Given the description of an element on the screen output the (x, y) to click on. 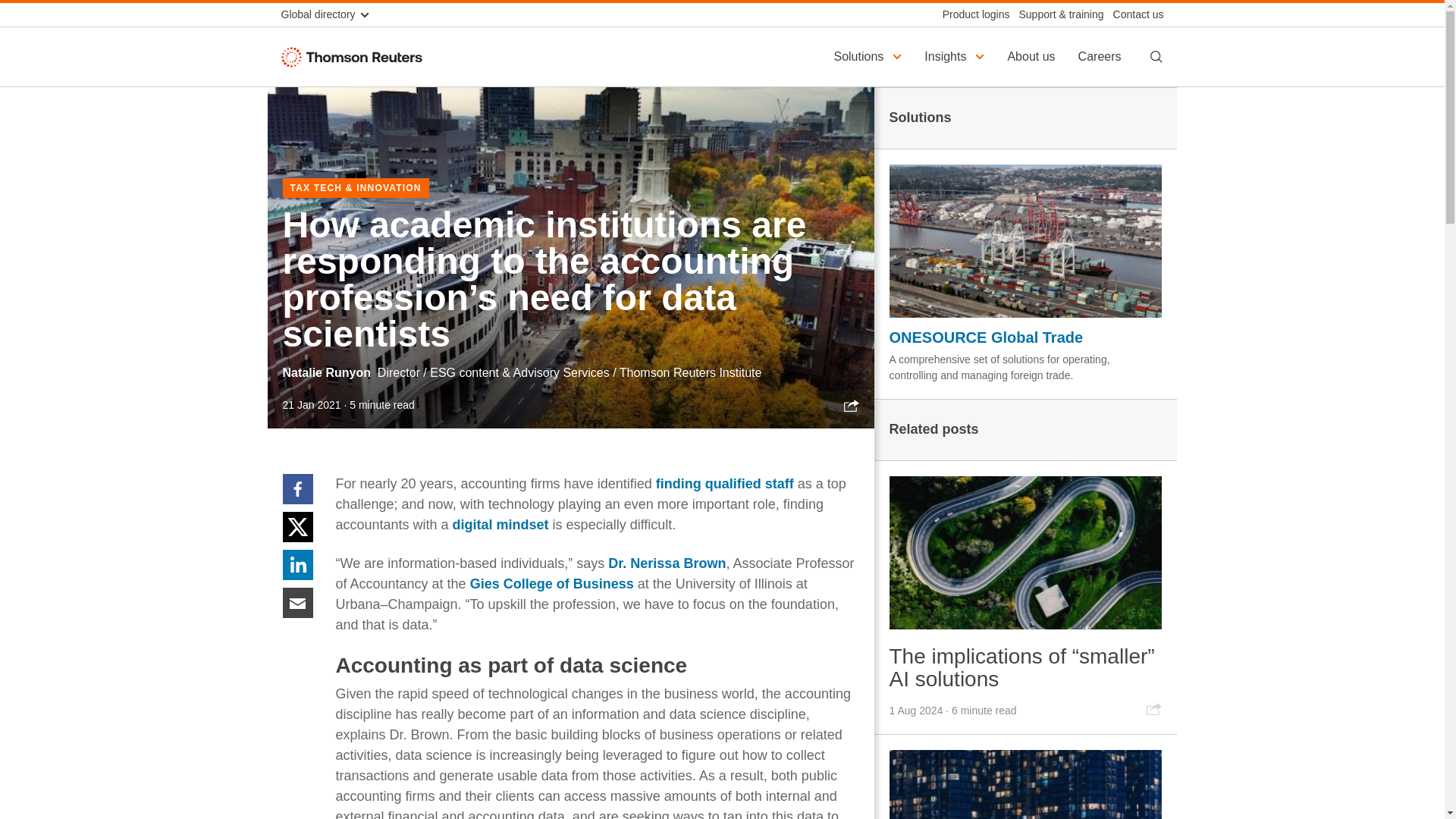
Twitter (297, 525)
Share (850, 405)
Careers (1101, 56)
About us (1032, 56)
Global directory (331, 14)
Email (297, 601)
Natalie Runyon (325, 372)
Linkedin (297, 563)
Solutions (869, 56)
Insights (956, 56)
